Given the description of an element on the screen output the (x, y) to click on. 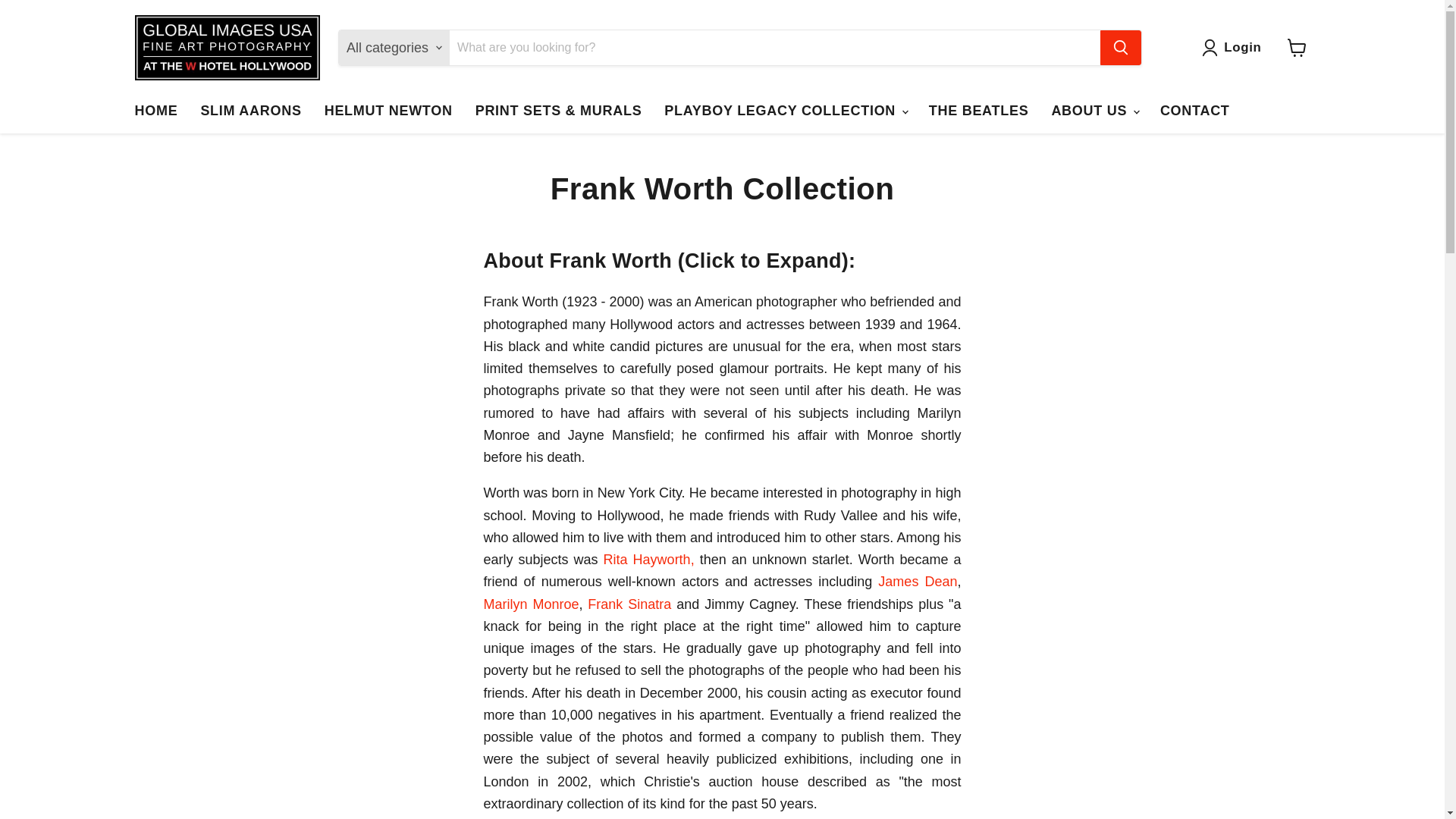
HELMUT NEWTON (388, 110)
CONTACT (1194, 110)
SLIM AARONS (251, 110)
View cart (1296, 47)
HOME (155, 110)
THE BEATLES (979, 110)
Login (1235, 47)
